Given the description of an element on the screen output the (x, y) to click on. 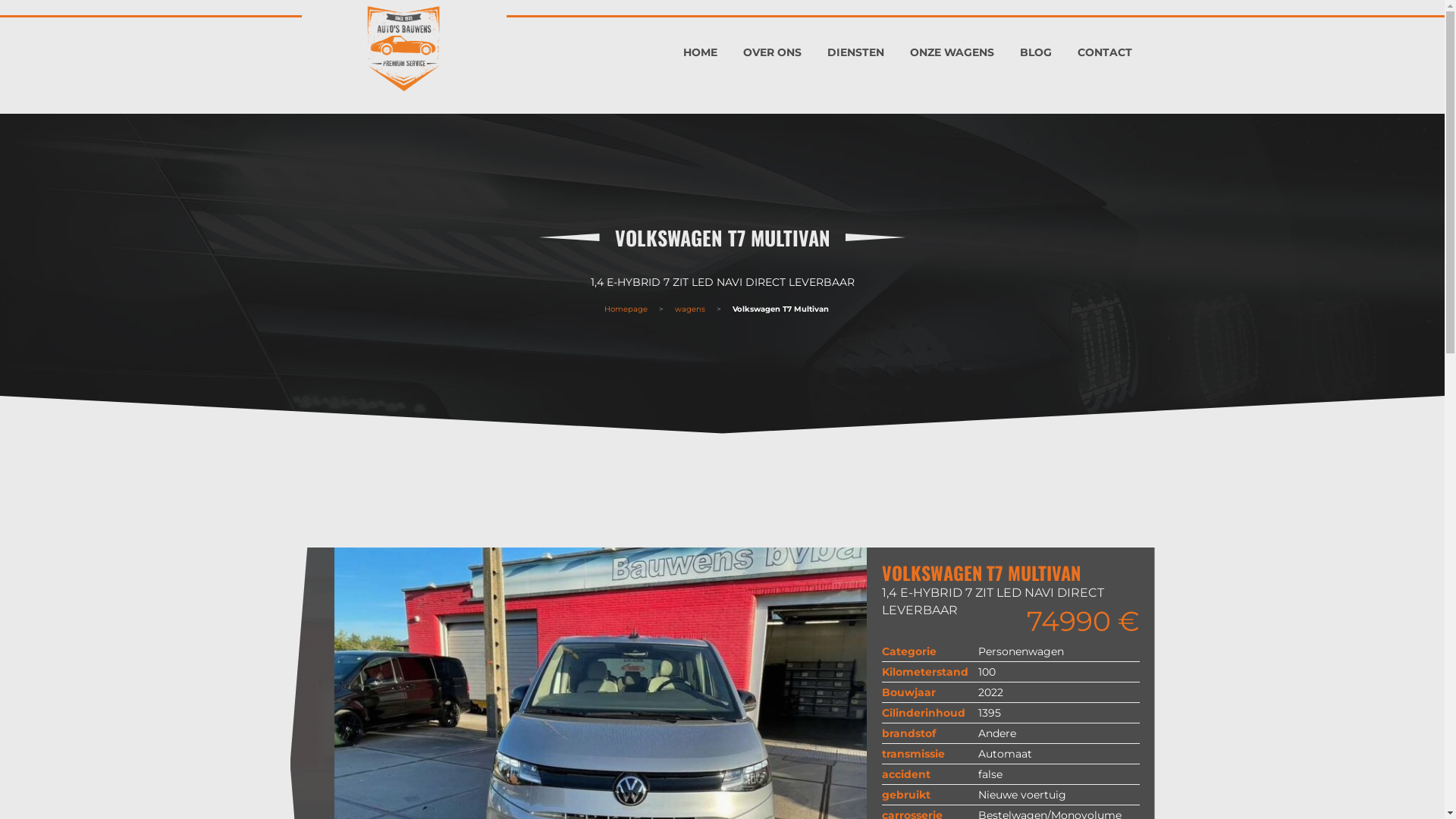
DIENSTEN Element type: text (855, 46)
wagens Element type: text (689, 308)
BLOG Element type: text (1035, 46)
CONTACT Element type: text (1104, 46)
Homepage Element type: text (625, 308)
ONZE WAGENS Element type: text (950, 46)
Auto's Bauwens Tielt-winge Element type: text (403, 48)
HOME Element type: text (699, 46)
OVER ONS Element type: text (771, 46)
